Given the description of an element on the screen output the (x, y) to click on. 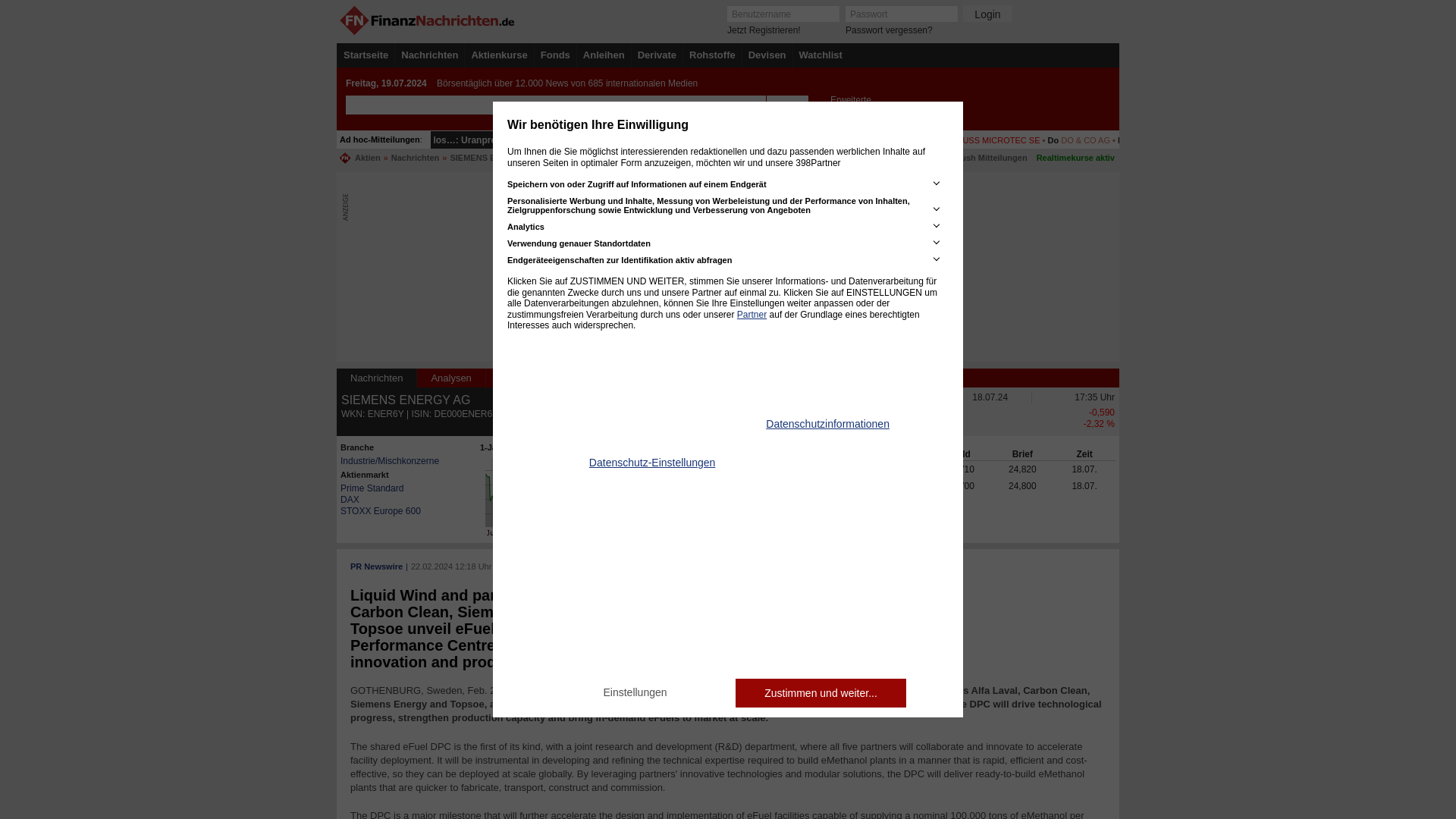
Passwort vergessen? (889, 30)
Nachrichten (429, 55)
Jetzt Registrieren! (763, 30)
Startseite (365, 55)
Suchen (786, 104)
Login (986, 13)
